Given the description of an element on the screen output the (x, y) to click on. 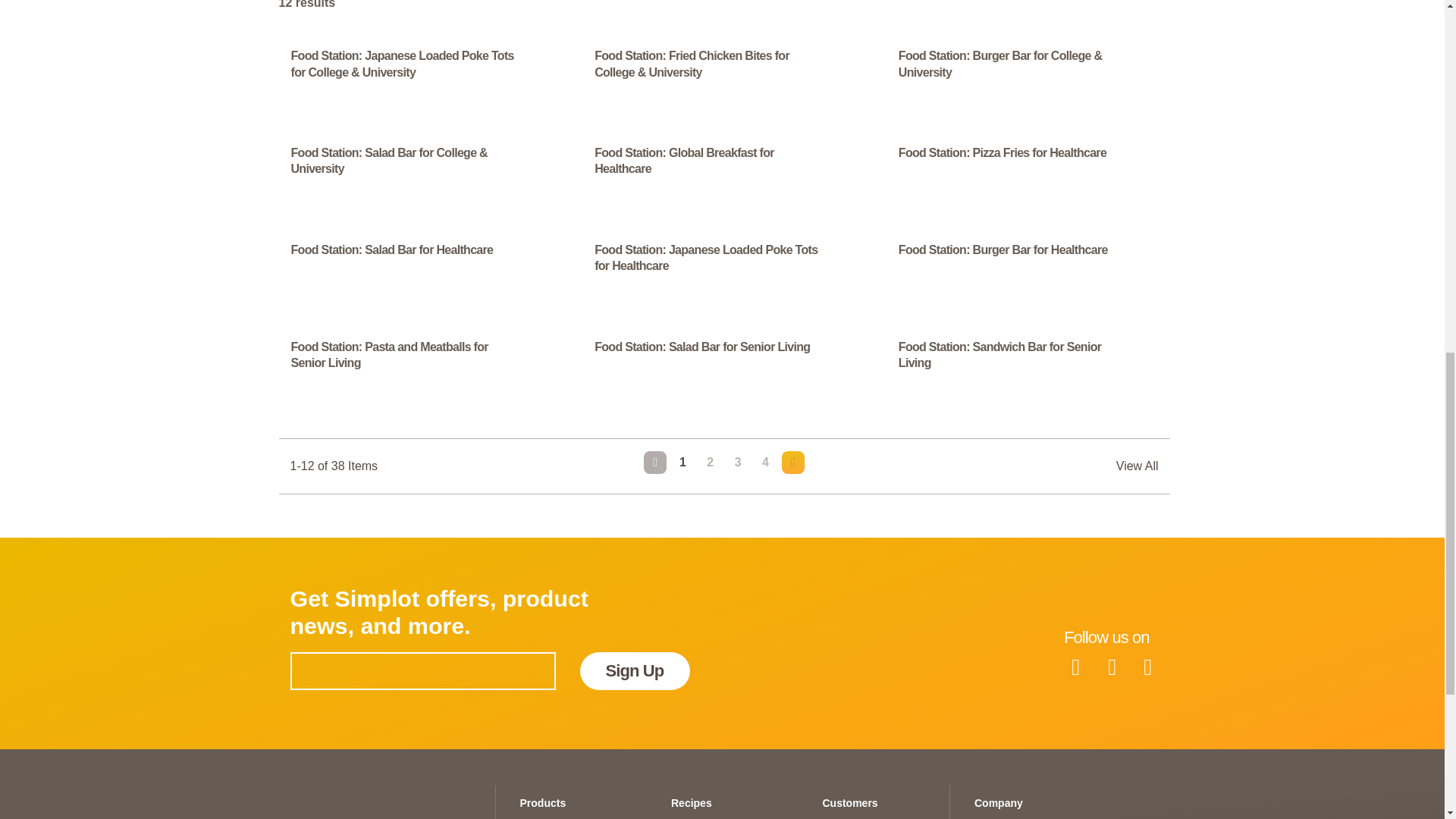
Simplot Foods Facebook Page (1076, 666)
Simplot Foods Youtube (1111, 666)
Simplot Foods Instagram (1147, 666)
